Given the description of an element on the screen output the (x, y) to click on. 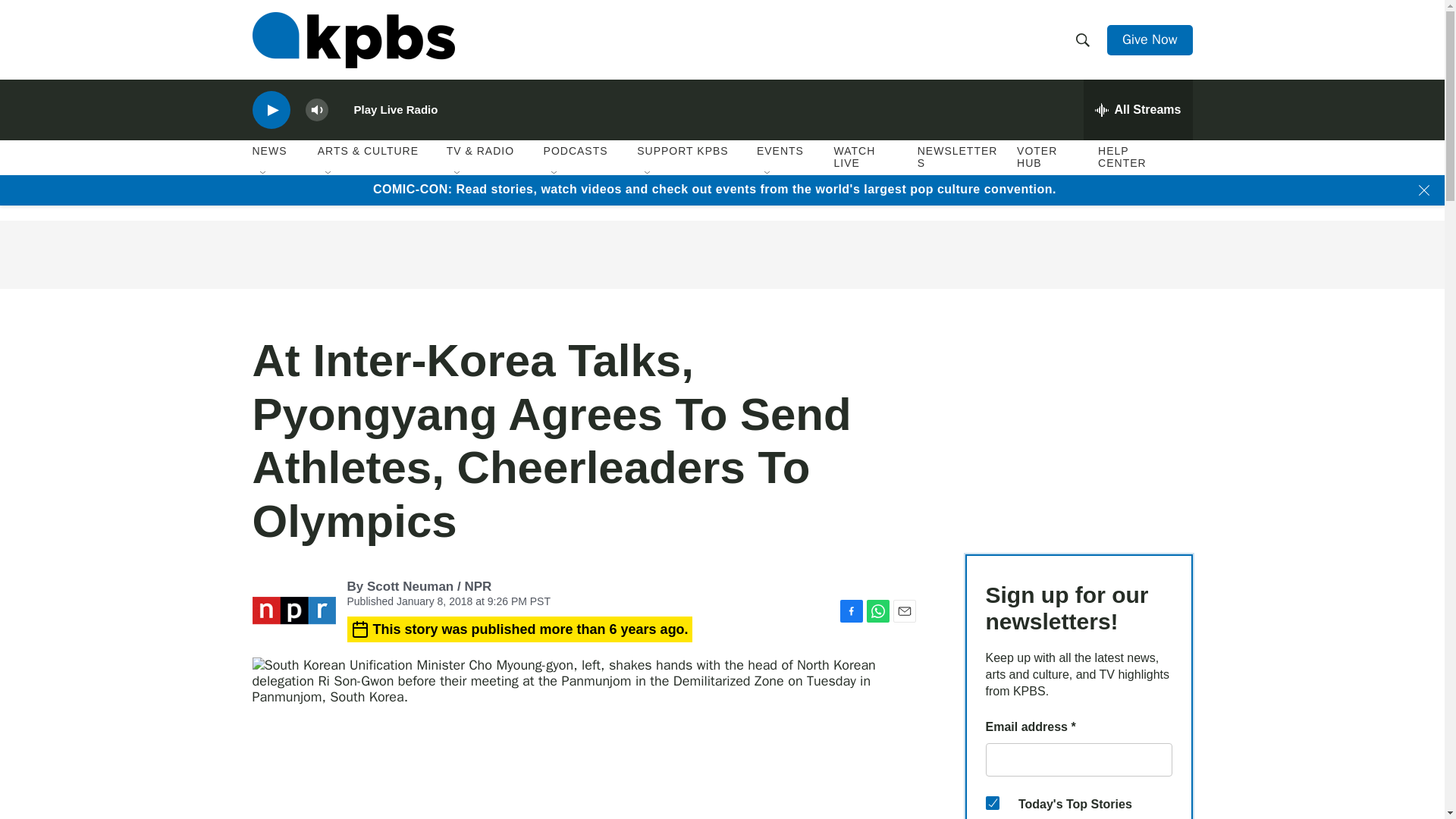
4 (991, 802)
